Given the description of an element on the screen output the (x, y) to click on. 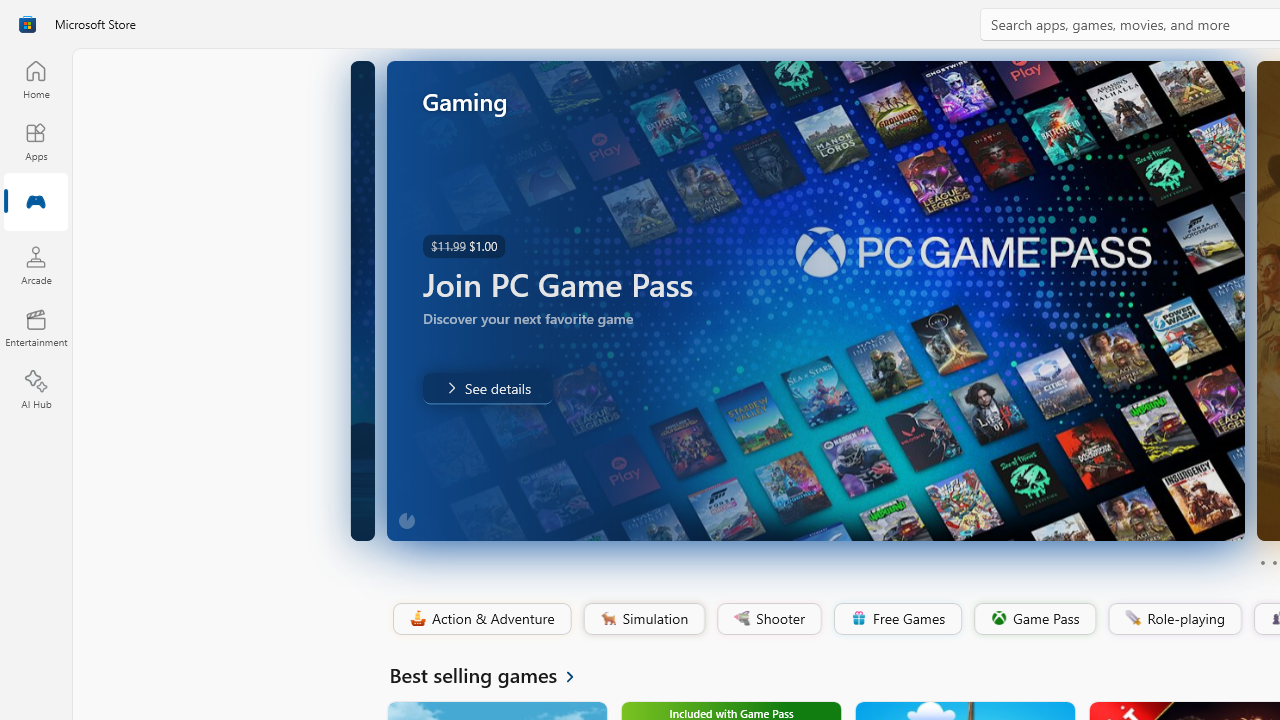
Apps (35, 141)
Page 2 (1274, 562)
